Given the description of an element on the screen output the (x, y) to click on. 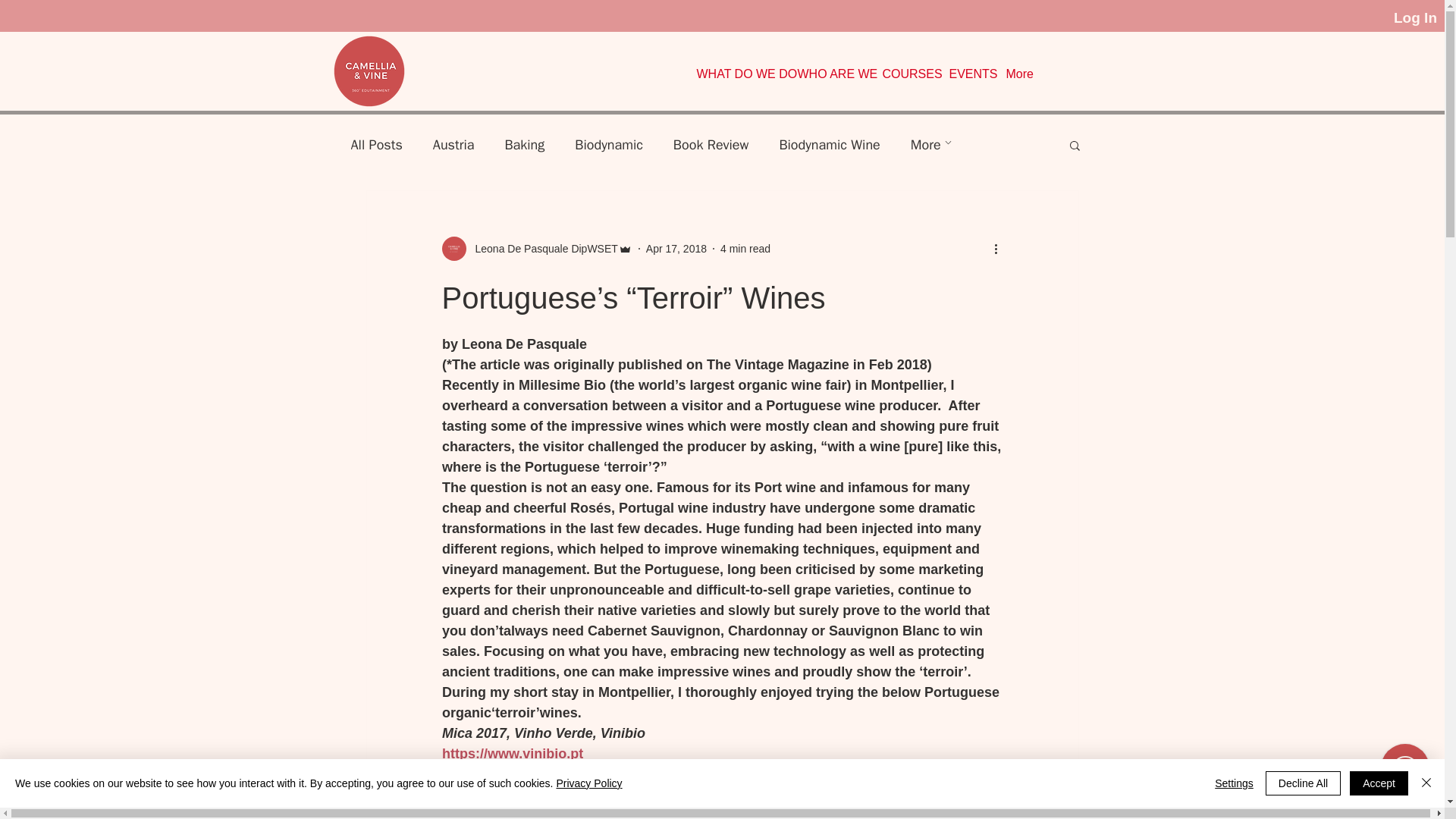
Austria (453, 144)
Wix Chat (1408, 771)
All Posts (375, 144)
Apr 17, 2018 (676, 248)
Biodynamic Wine (828, 144)
Book Review (710, 144)
Biodynamic (609, 144)
Leona De Pasquale DipWSET (541, 248)
WHO ARE WE (832, 74)
COURSES (908, 74)
